Given the description of an element on the screen output the (x, y) to click on. 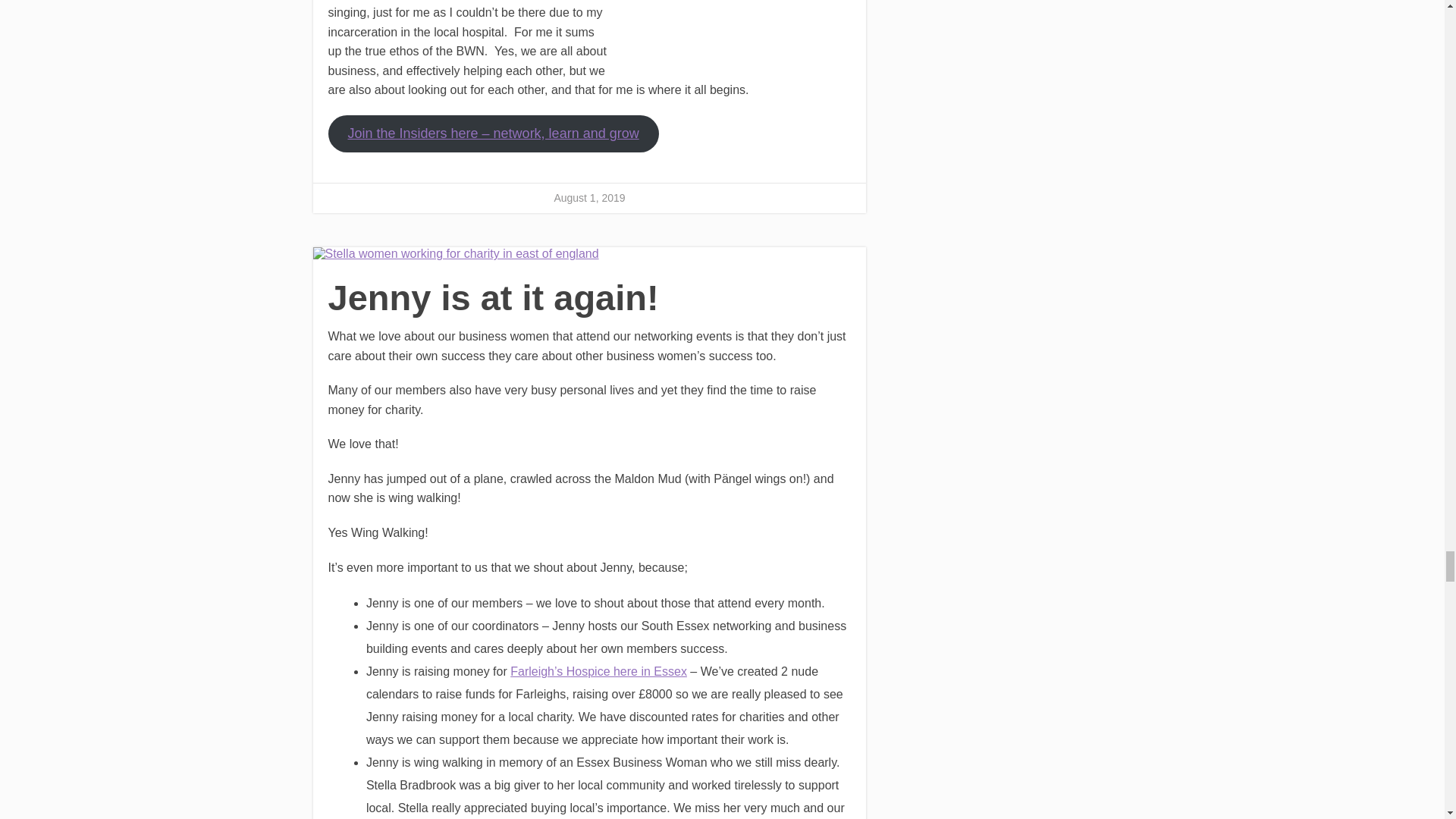
Jenny is at it again! (589, 254)
